Given the description of an element on the screen output the (x, y) to click on. 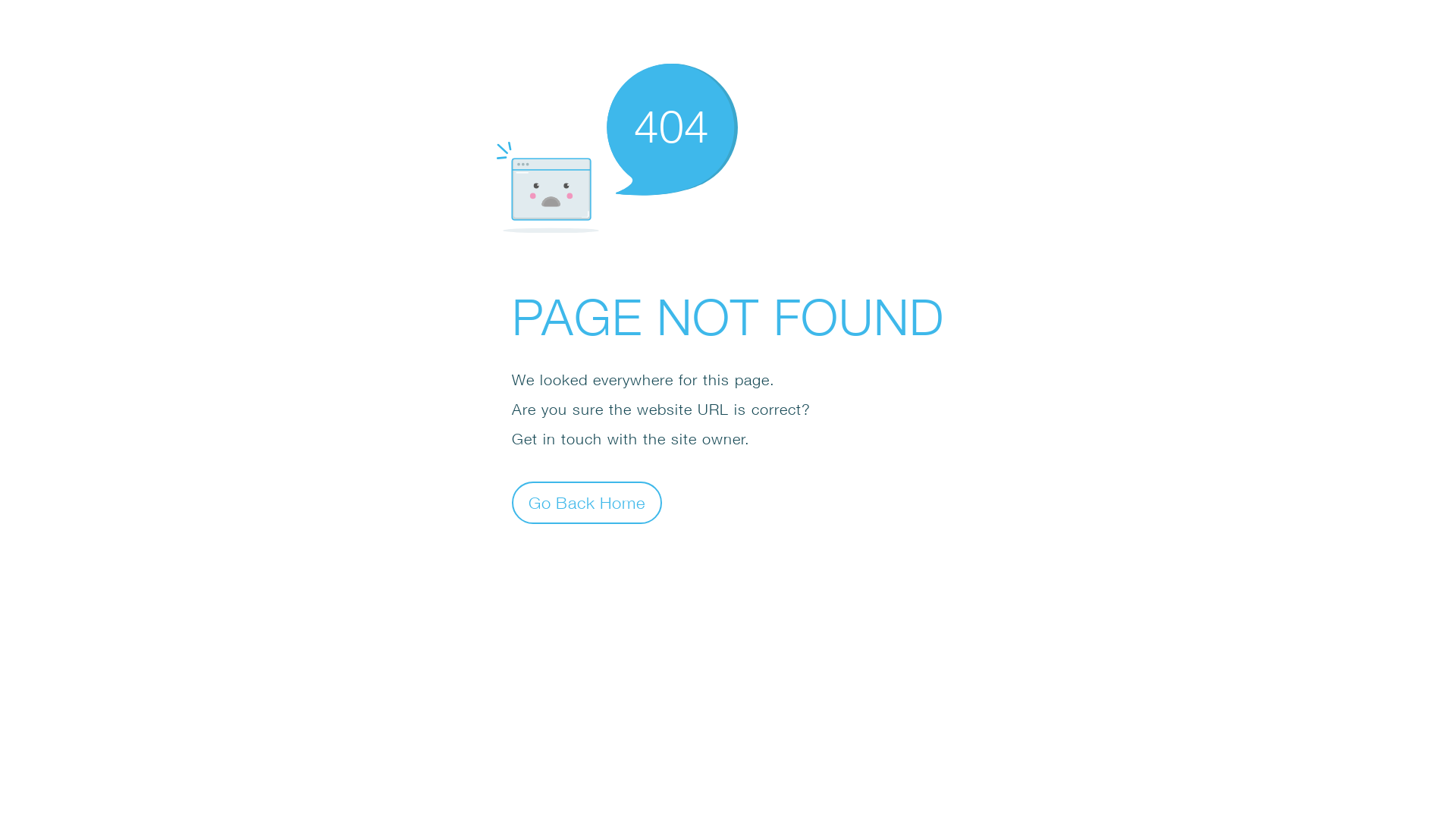
Go Back Home Element type: text (586, 502)
